Given the description of an element on the screen output the (x, y) to click on. 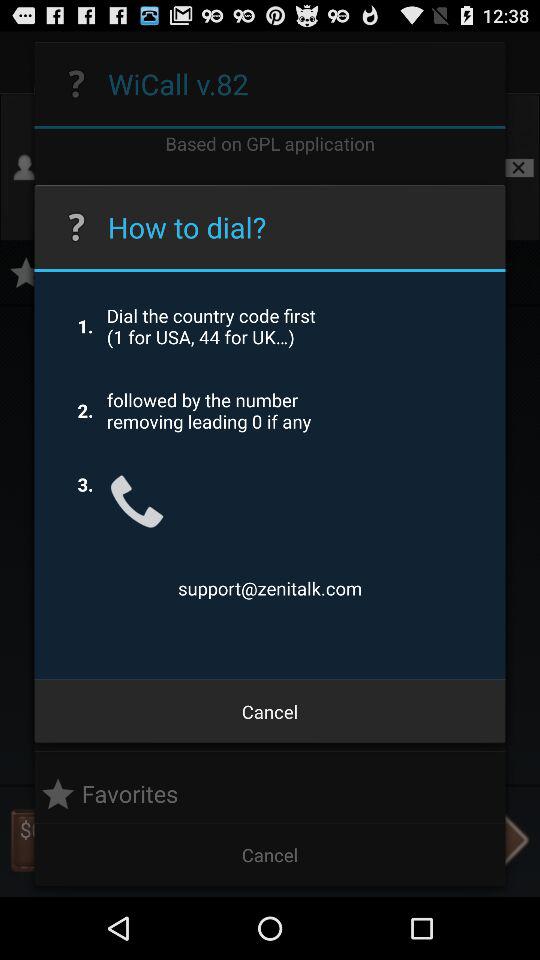
turn off app below the support@zenitalk.com app (269, 711)
